Given the description of an element on the screen output the (x, y) to click on. 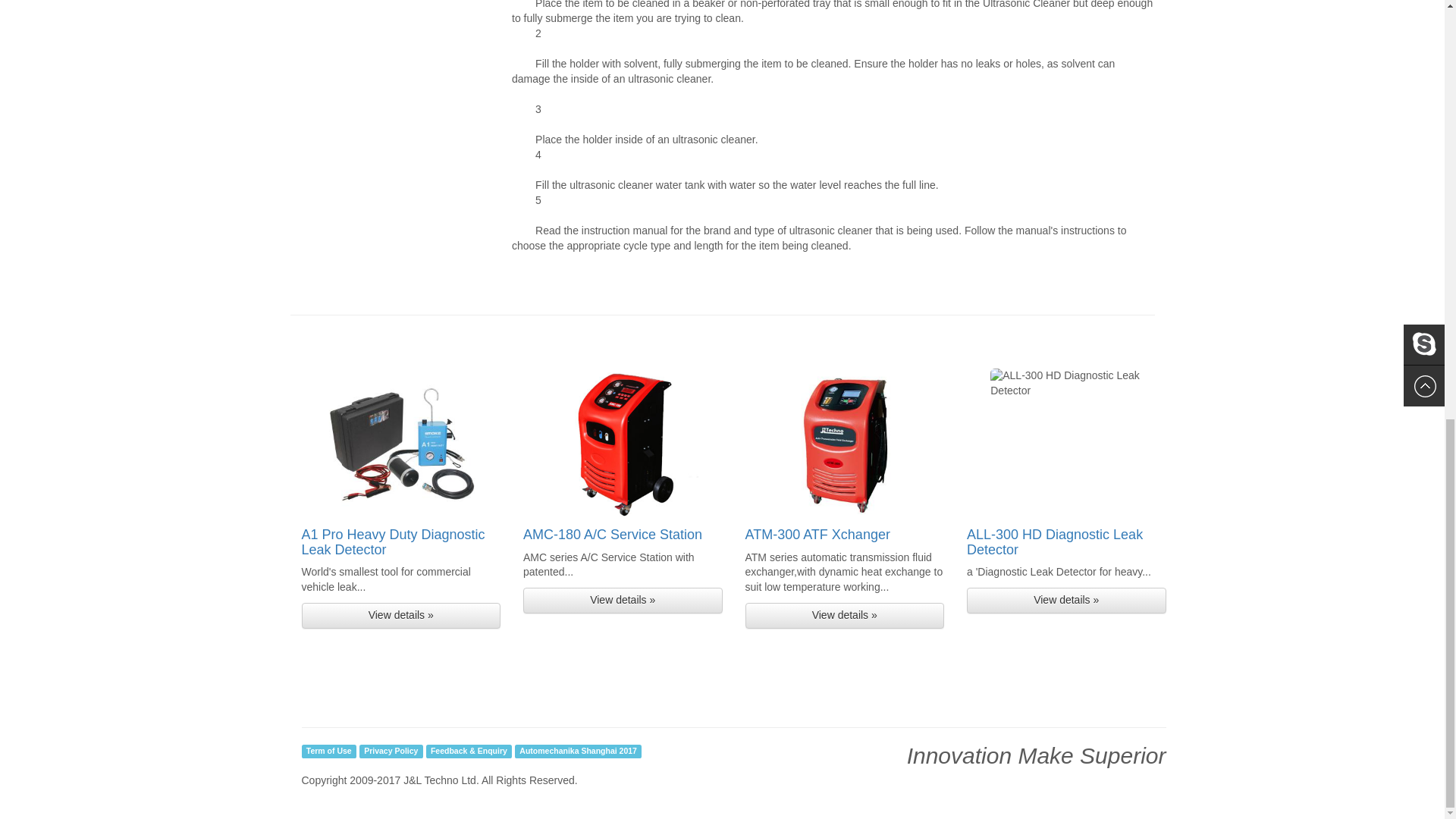
Privacy Policy (391, 750)
Term of Use (328, 750)
ALL-300 HD Diagnostic Leak Detector (1054, 542)
ATM-300 ATF Xchanger (816, 534)
ATM-300 ATF Xchanger (816, 534)
ALL-300 HD Diagnostic Leak Detector (1054, 542)
A1 Pro Heavy Duty Diagnostic Leak Detector (392, 542)
A1 Pro Heavy Duty Diagnostic Leak Detector (392, 542)
